Given the description of an element on the screen output the (x, y) to click on. 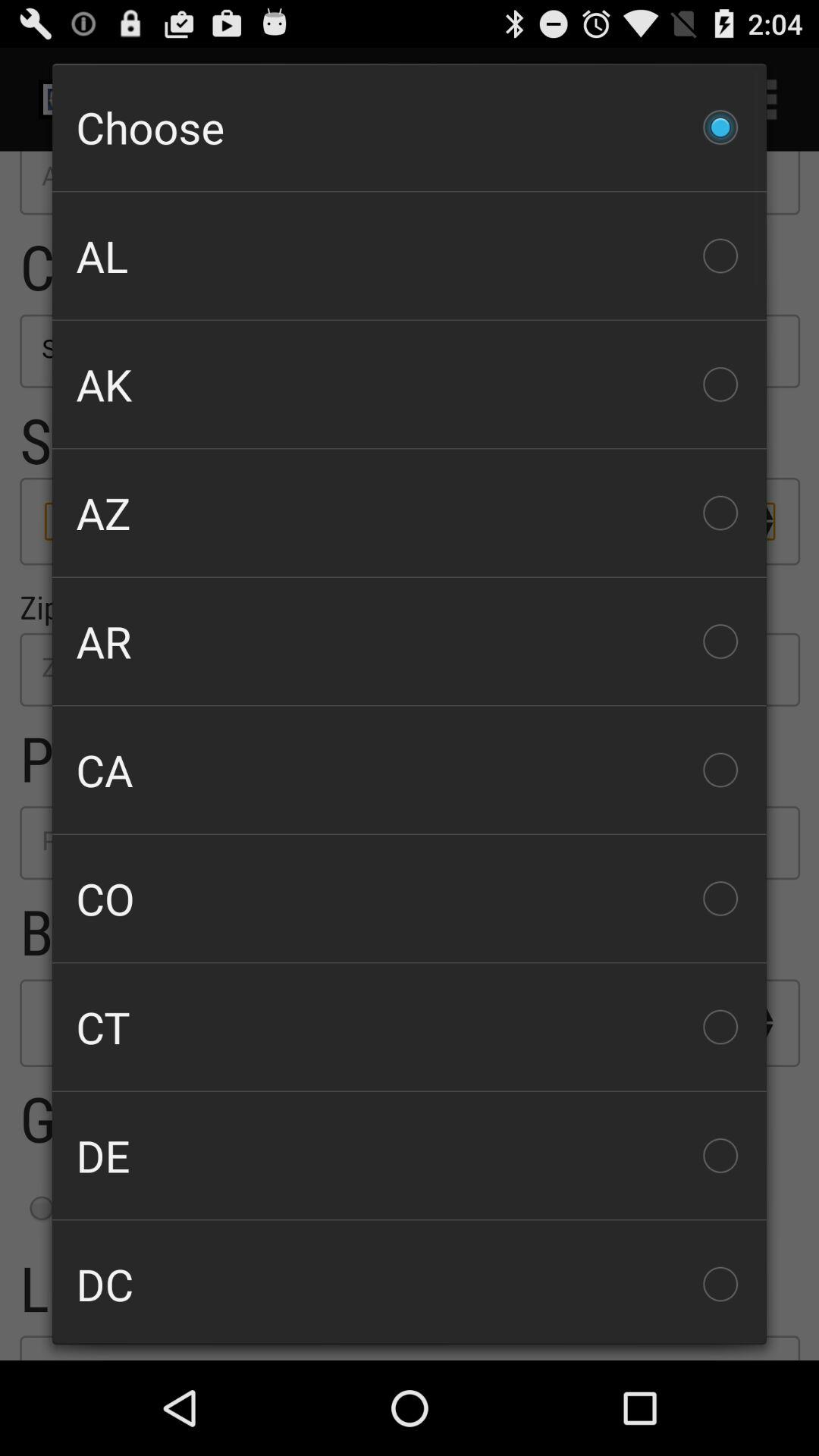
launch the icon above the ca checkbox (409, 641)
